Given the description of an element on the screen output the (x, y) to click on. 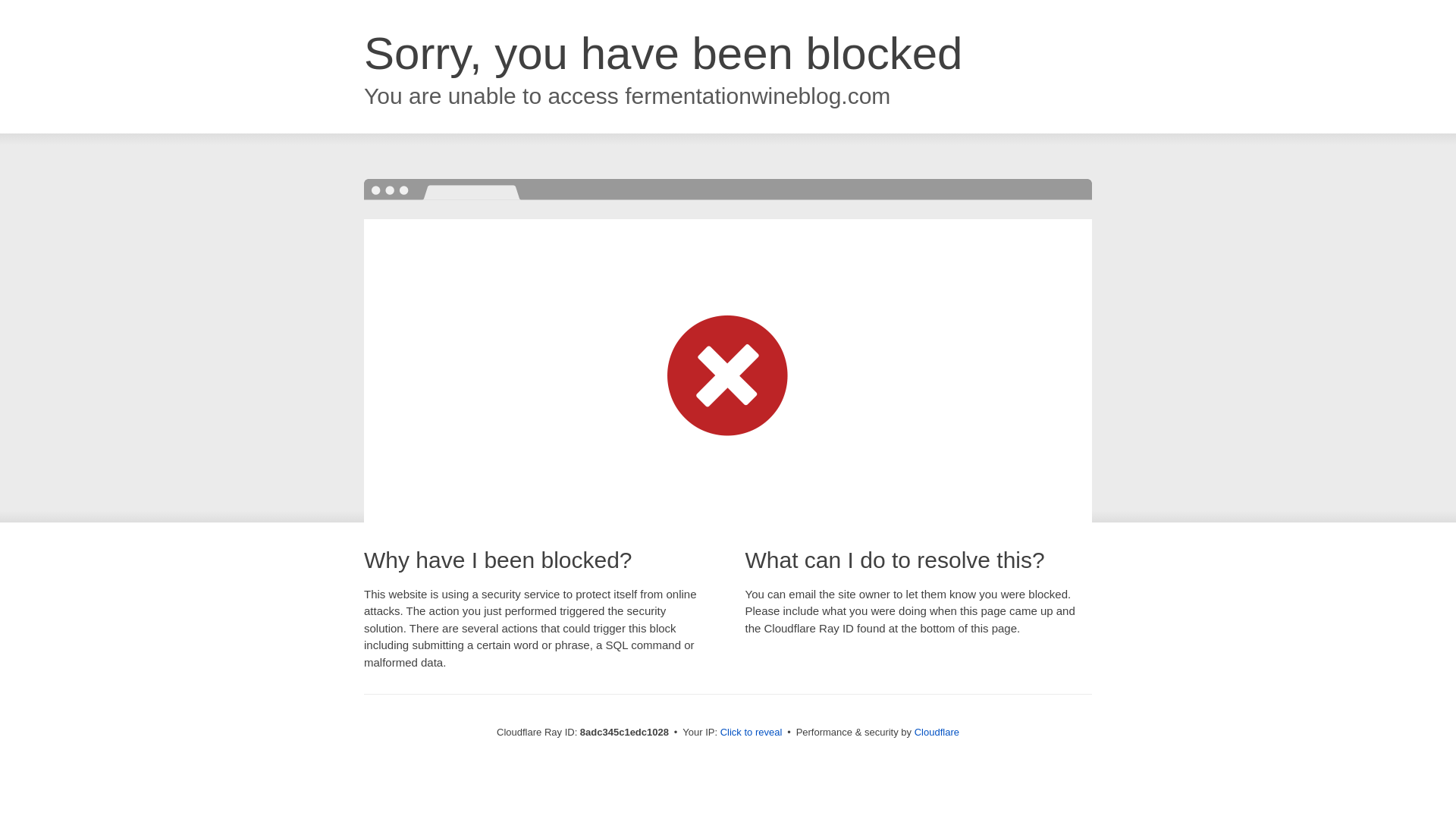
Cloudflare (936, 731)
Click to reveal (751, 732)
